Given the description of an element on the screen output the (x, y) to click on. 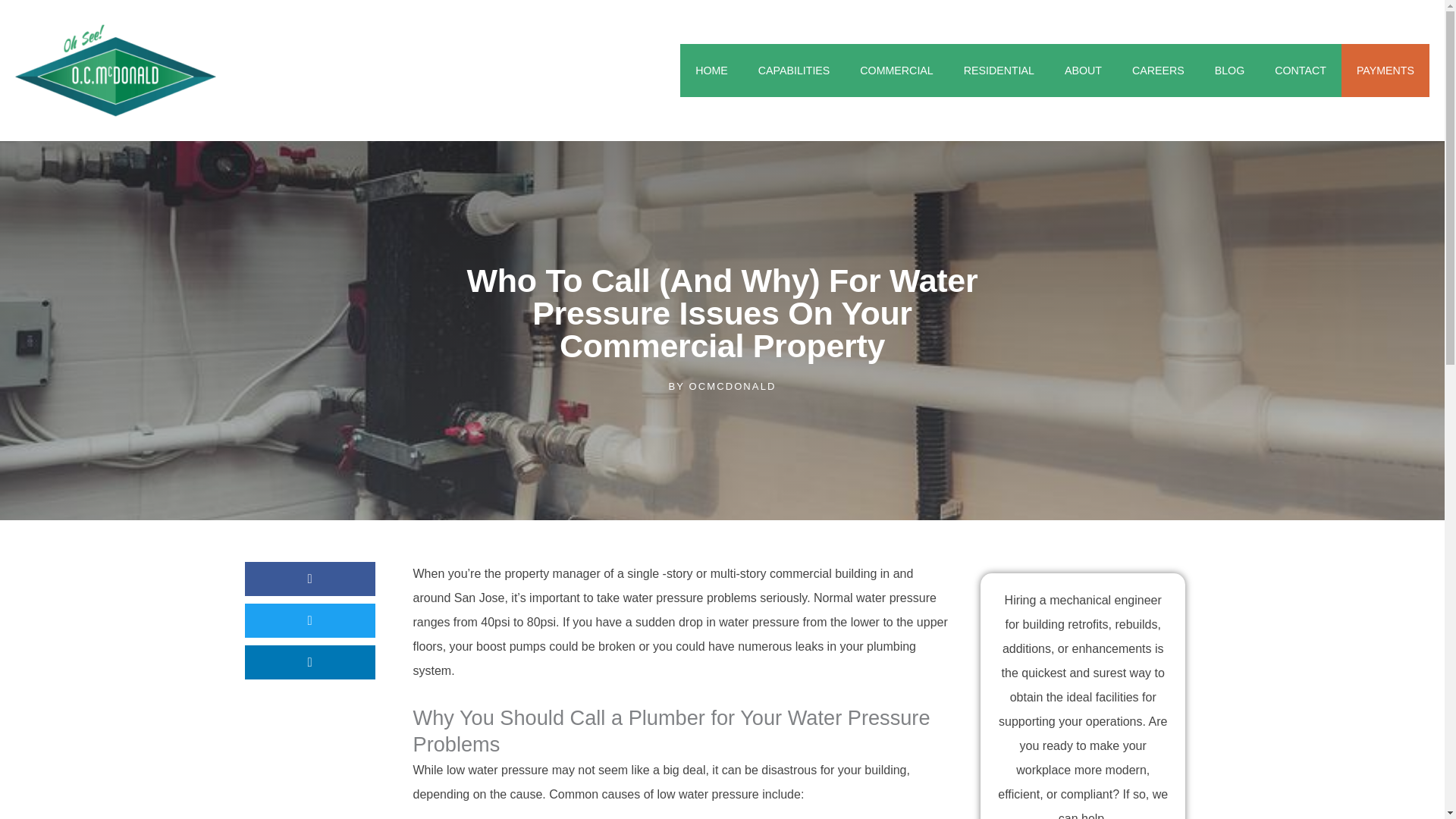
HOME (710, 70)
CAPABILITIES (793, 70)
CONTACT (1299, 70)
COMMERCIAL (895, 70)
BY OCMCDONALD (722, 386)
RESIDENTIAL (999, 70)
ABOUT (1082, 70)
CAREERS (1157, 70)
BLOG (1229, 70)
PAYMENTS (1384, 70)
